Given the description of an element on the screen output the (x, y) to click on. 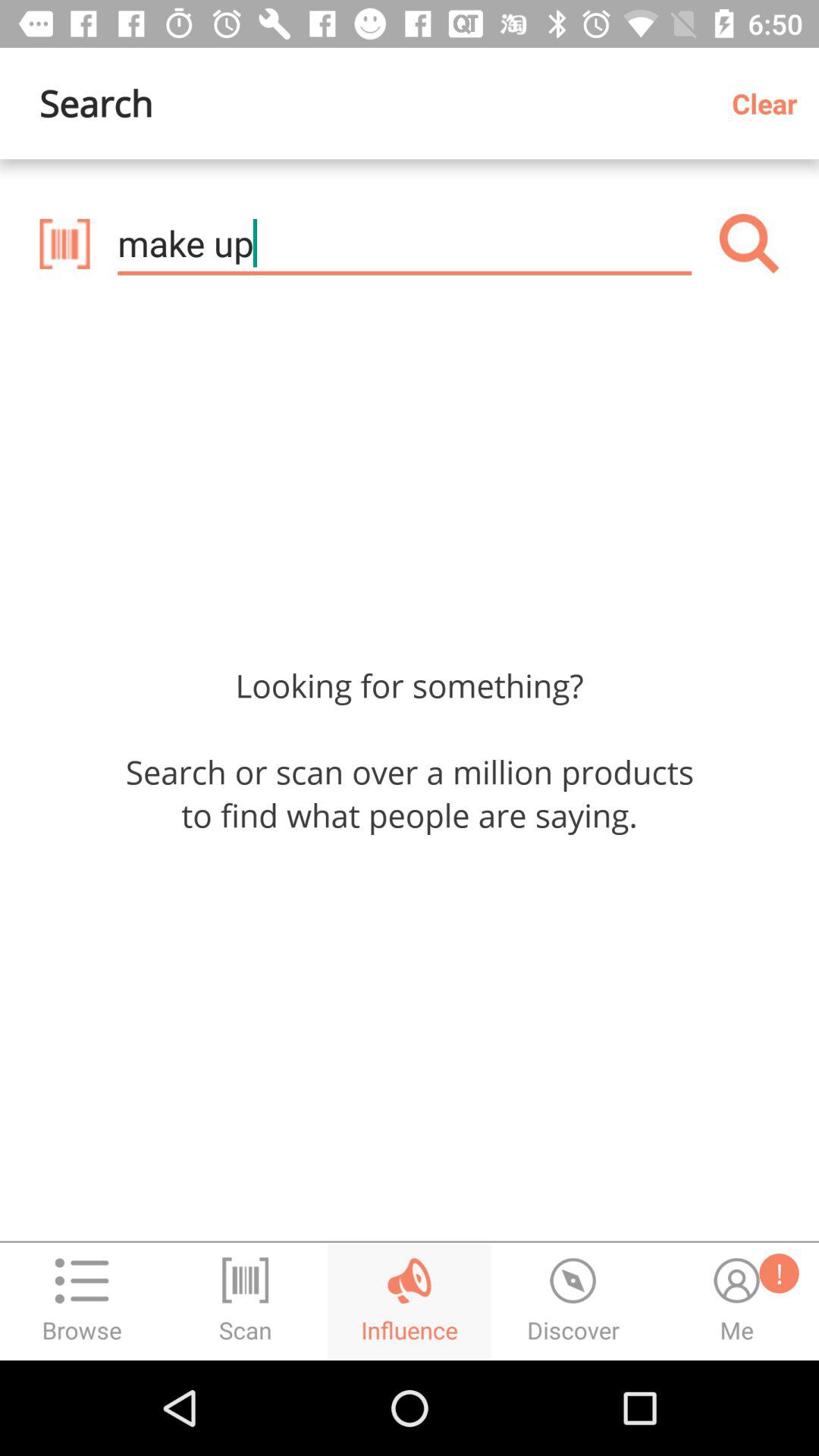
turn off icon above looking for something icon (64, 243)
